Given the description of an element on the screen output the (x, y) to click on. 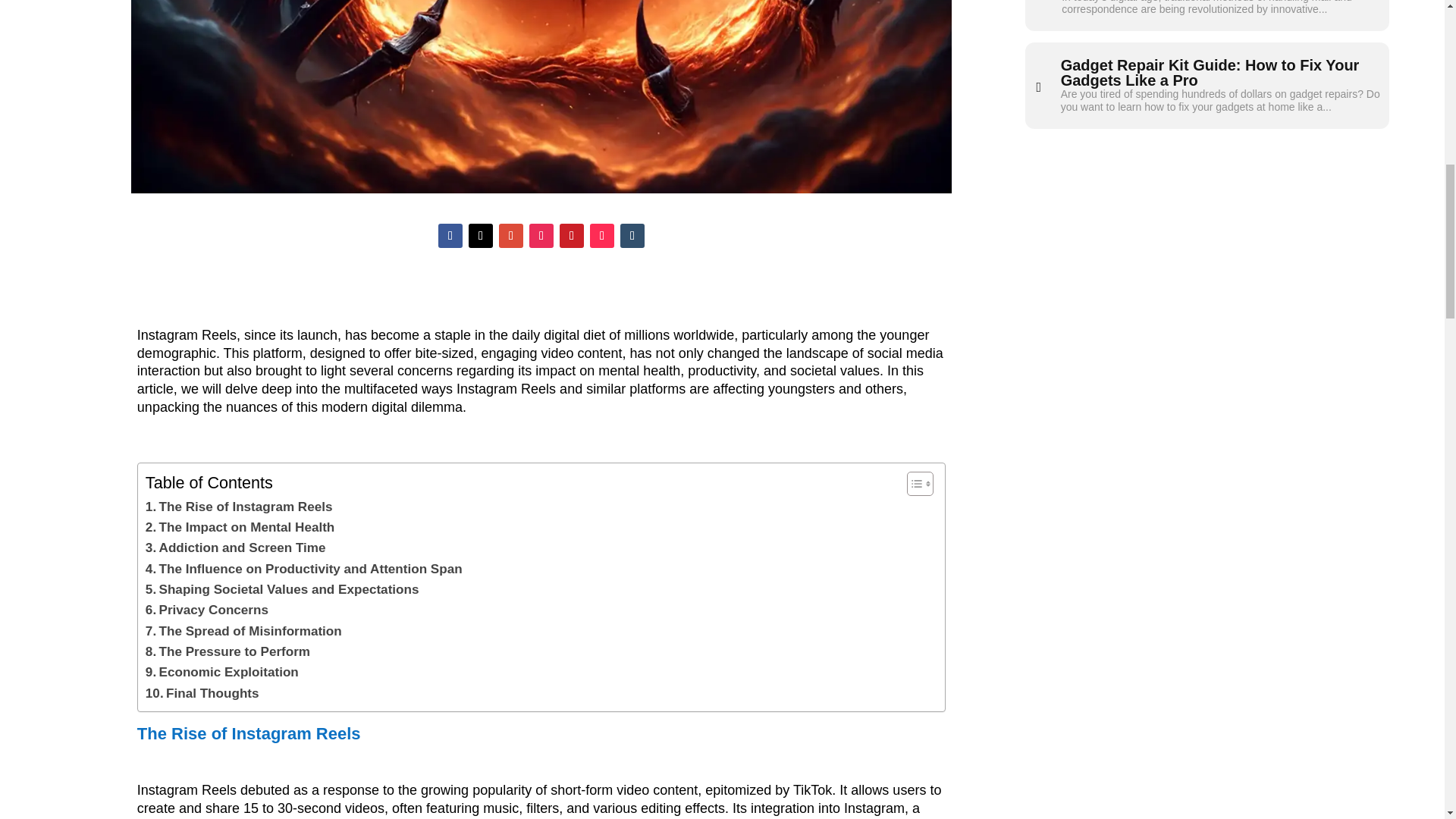
Follow on tumblr (632, 235)
The Influence on Productivity and Attention Span (304, 568)
Shaping Societal Values and Expectations (282, 589)
Follow on Facebook (450, 235)
The Impact on Mental Health (239, 526)
The Rise of Instagram Reels (239, 506)
Economic Exploitation (221, 671)
Follow on Instagram (541, 235)
The Impact on Mental Health (239, 526)
Privacy Concerns (206, 609)
Follow on TikTok (601, 235)
The Spread of Misinformation (243, 630)
The Pressure to Perform (227, 651)
Follow on google-plus (510, 235)
Addiction and Screen Time (235, 547)
